Given the description of an element on the screen output the (x, y) to click on. 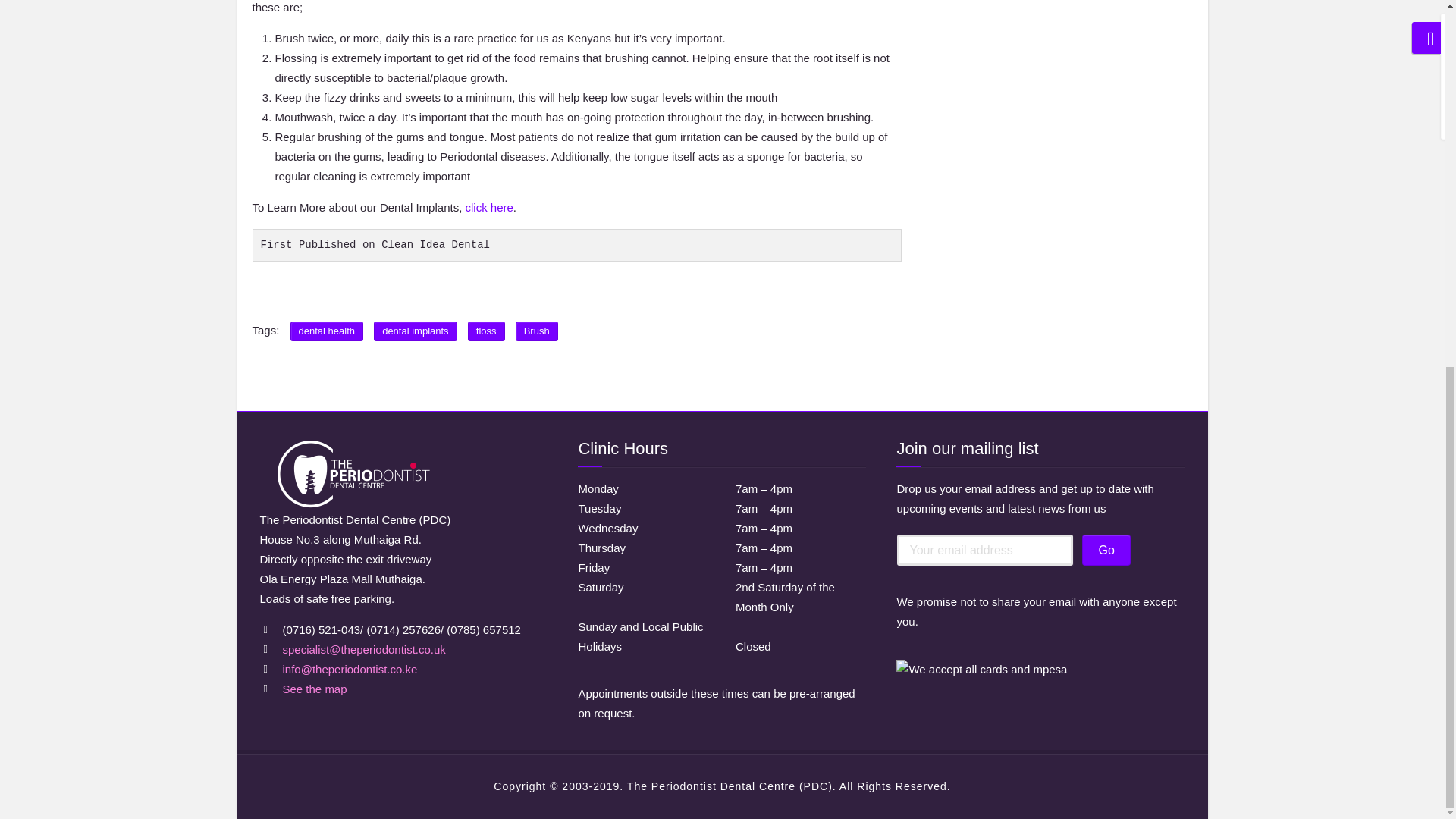
LinkedIn (882, 293)
FaceBook (807, 293)
Your email address (984, 549)
Twitter (832, 293)
Your email address (984, 549)
Go (1105, 549)
Dental Implants at The Periodontist Kenya (489, 206)
click here (489, 206)
